Given the description of an element on the screen output the (x, y) to click on. 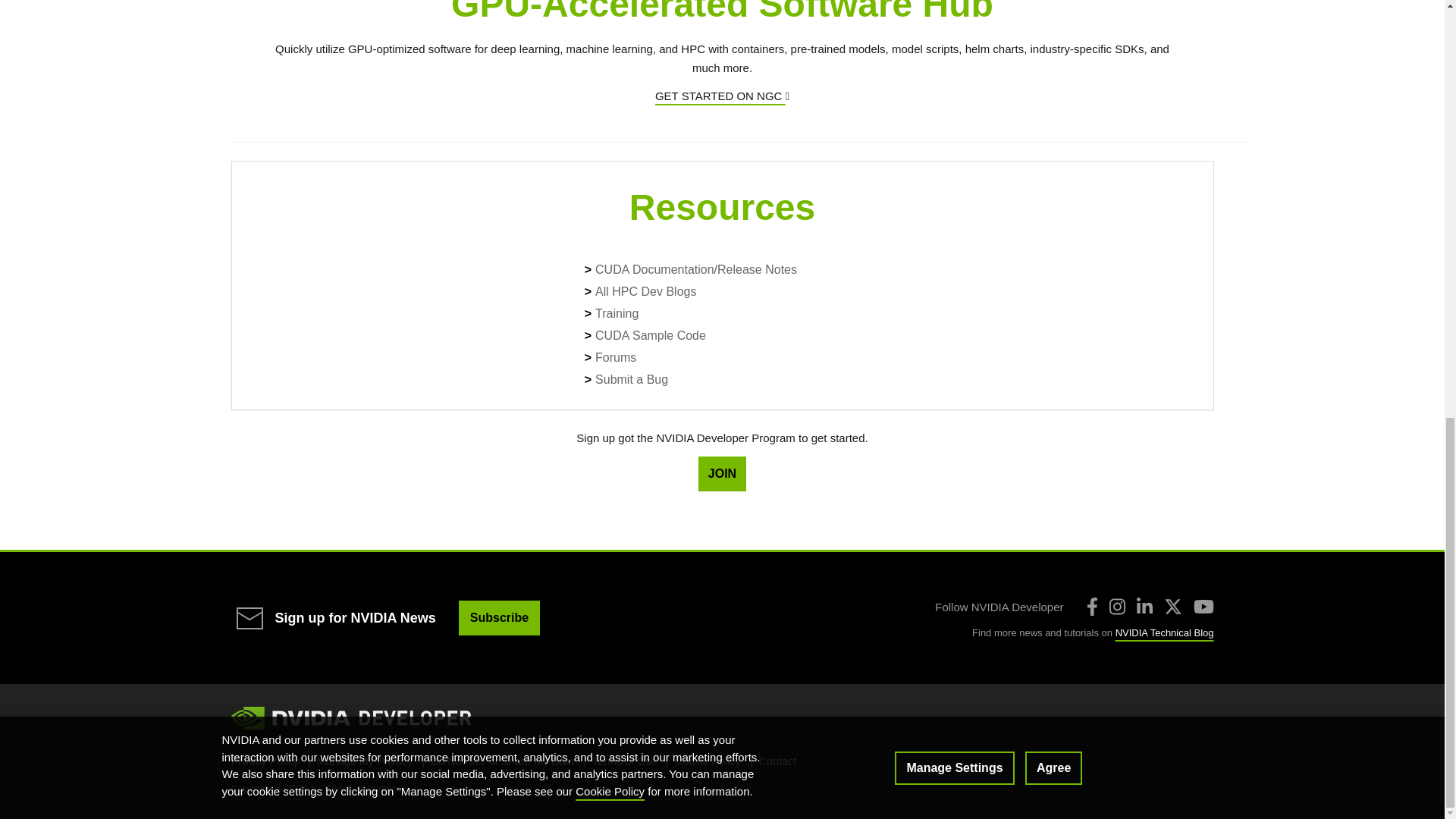
Instagram (1116, 606)
YouTube (1203, 606)
LinkedIn (1143, 606)
Twitter (1171, 606)
Facebook (1091, 606)
